Given the description of an element on the screen output the (x, y) to click on. 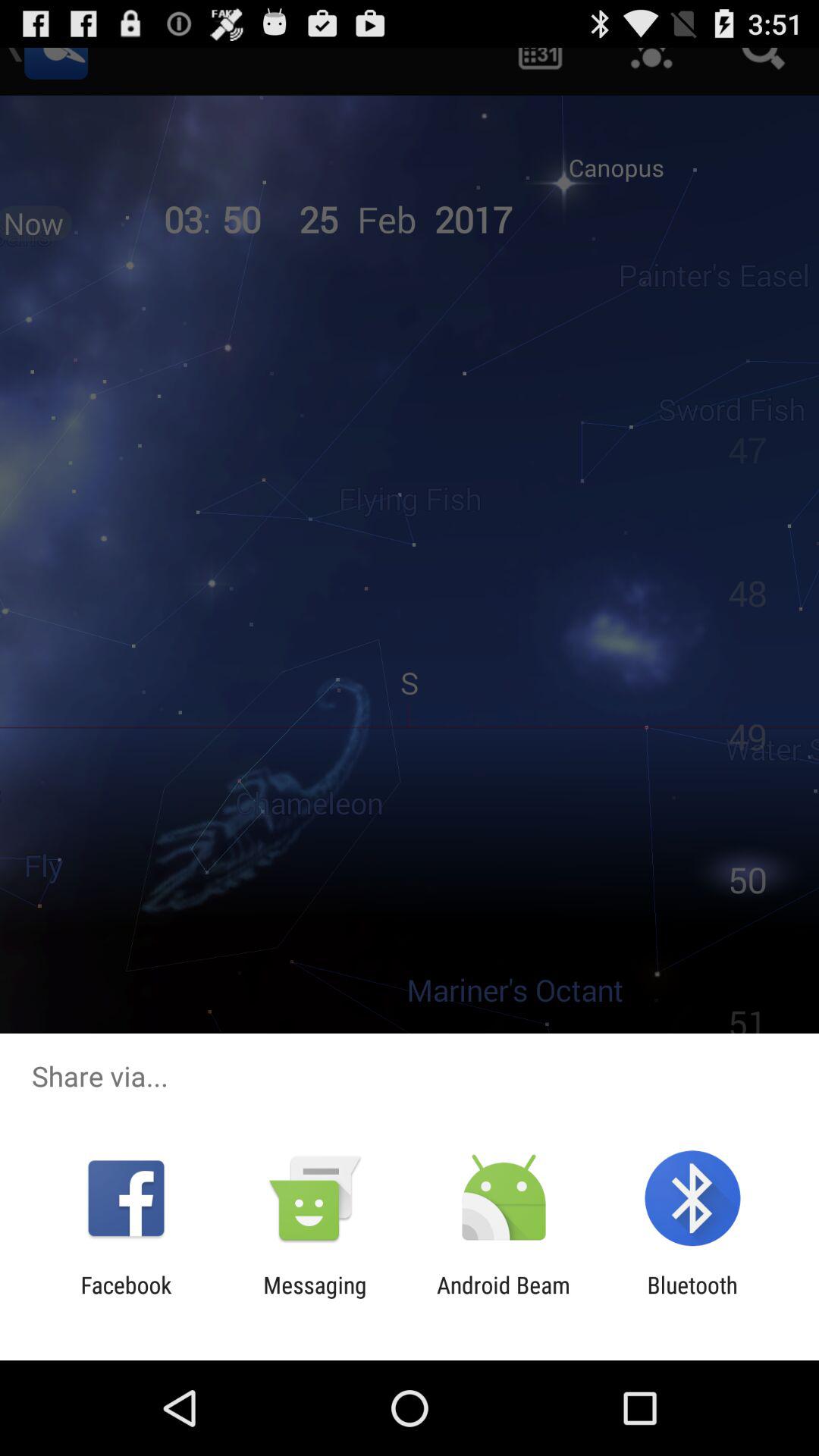
press the facebook item (125, 1298)
